Given the description of an element on the screen output the (x, y) to click on. 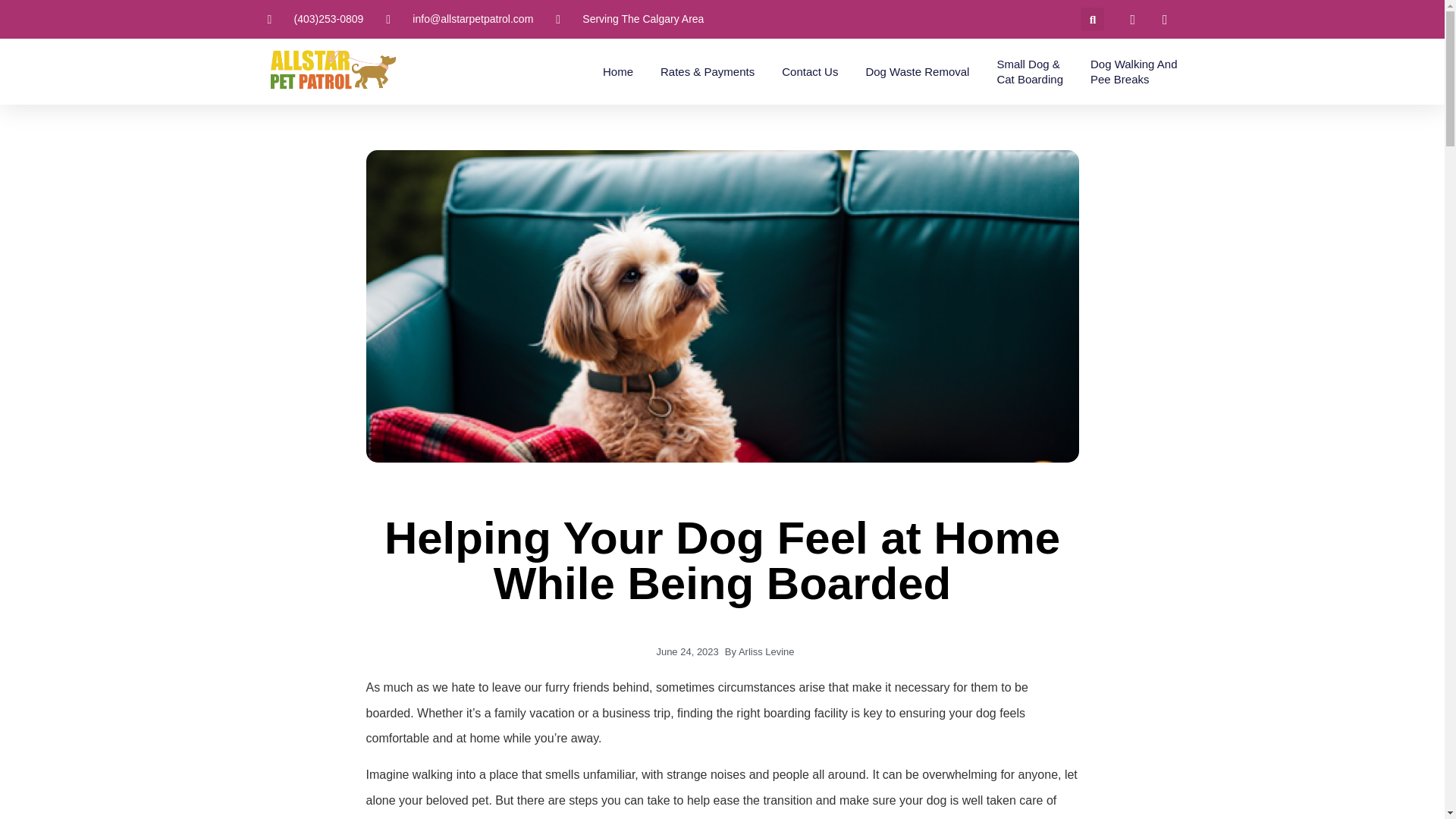
Home (1133, 71)
Dog Waste Removal (617, 71)
Contact Us (916, 71)
Helping-Your-Dog-Feel-at-Home-While-Being-Boarded (809, 71)
